Given the description of an element on the screen output the (x, y) to click on. 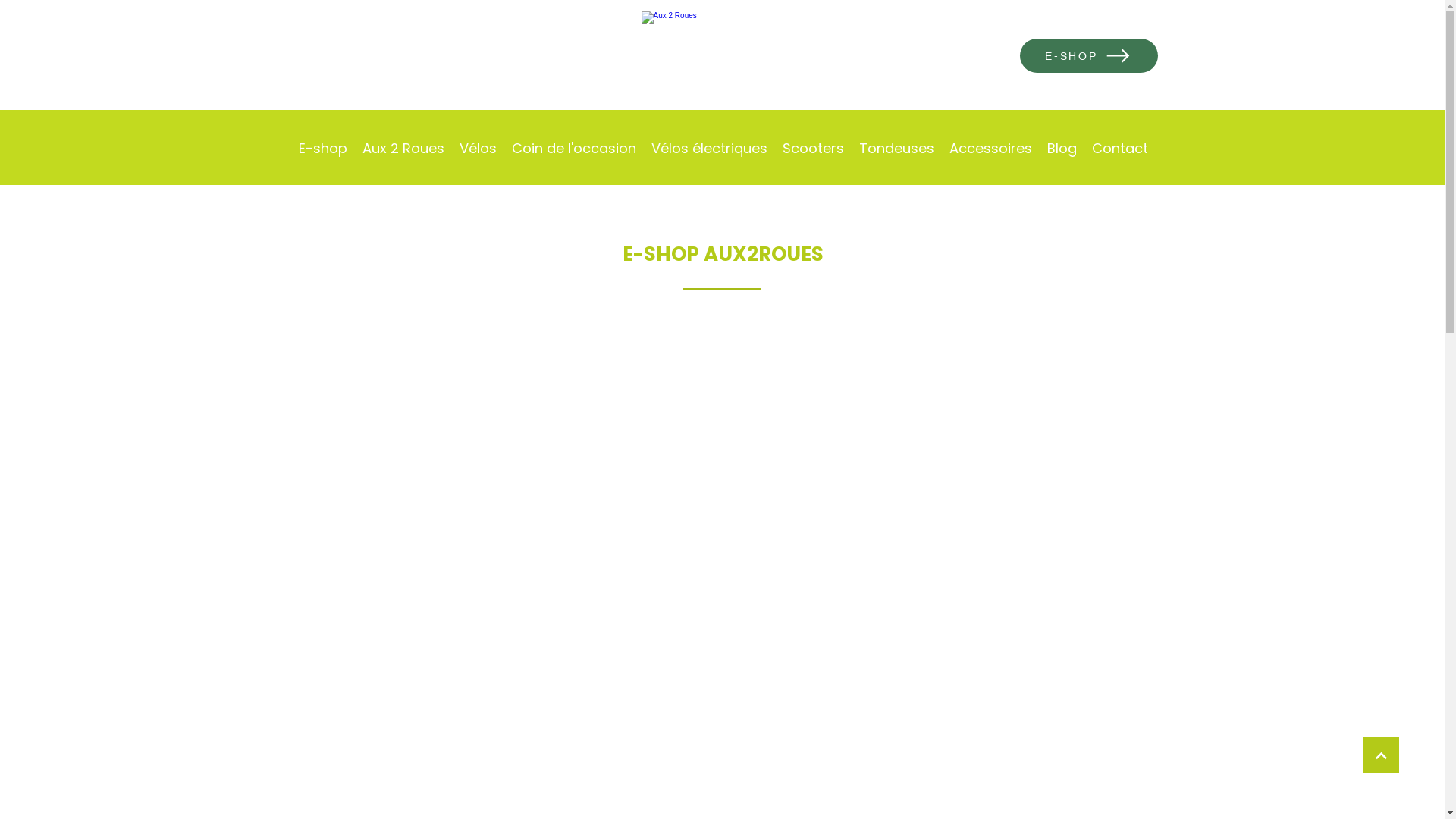
Aux 2 Roues Element type: text (403, 148)
E-shop Element type: text (322, 148)
Blog Element type: text (1061, 148)
Tondeuses Element type: text (895, 148)
Accessoires Element type: text (990, 148)
E-SHOP Element type: text (1088, 55)
Coin de l'occasion Element type: text (573, 148)
Aux 2 Roues Element type: hover (722, 55)
Contact Element type: text (1120, 148)
Scooters Element type: text (813, 148)
